Given the description of an element on the screen output the (x, y) to click on. 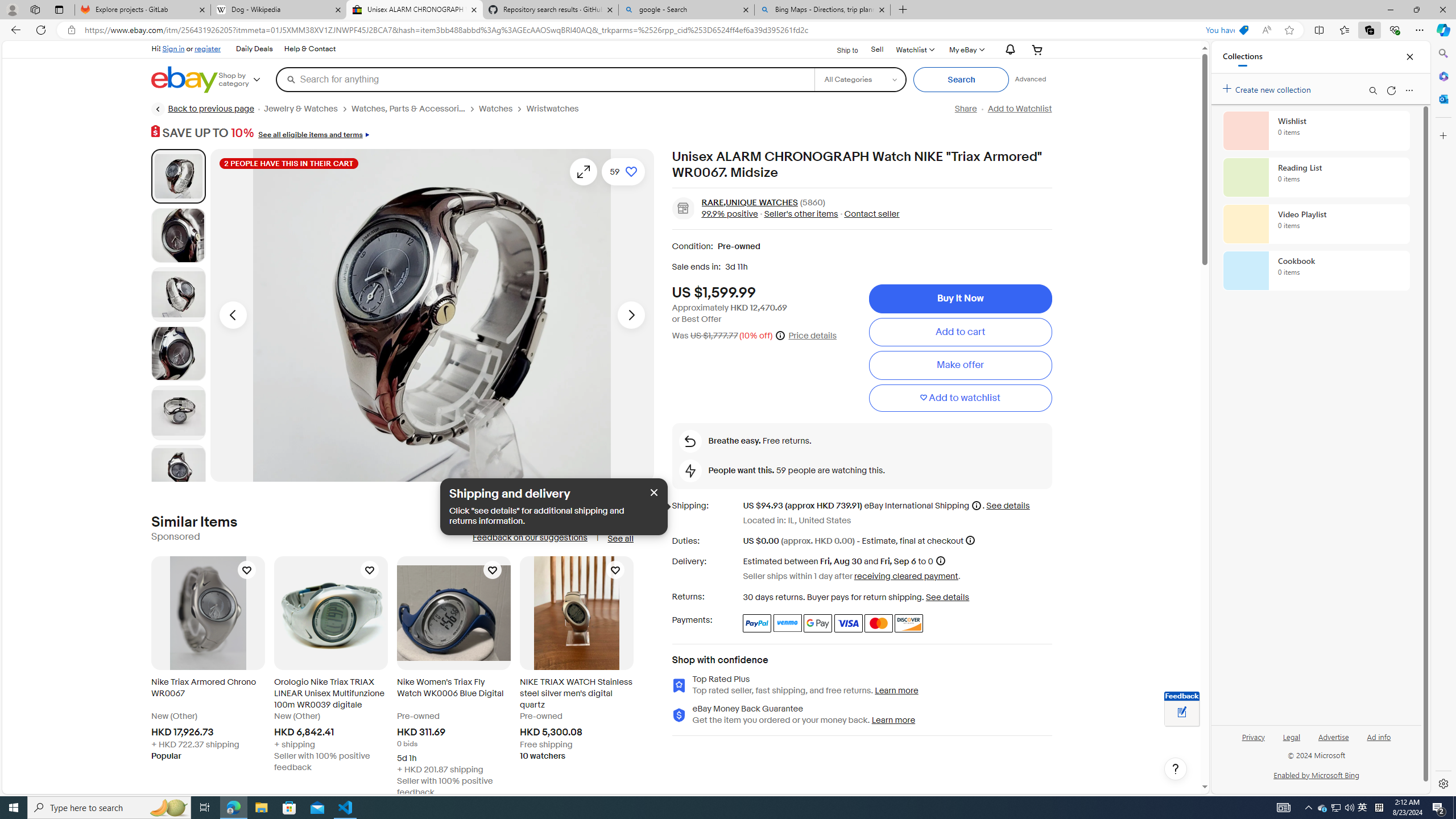
WatchlistExpand Watch List (914, 49)
See all (620, 538)
Watches (495, 108)
Picture 3 of 18 (178, 293)
Shop by category (246, 79)
Make offer (959, 365)
Sell (877, 49)
eBay Home (184, 79)
